Given the description of an element on the screen output the (x, y) to click on. 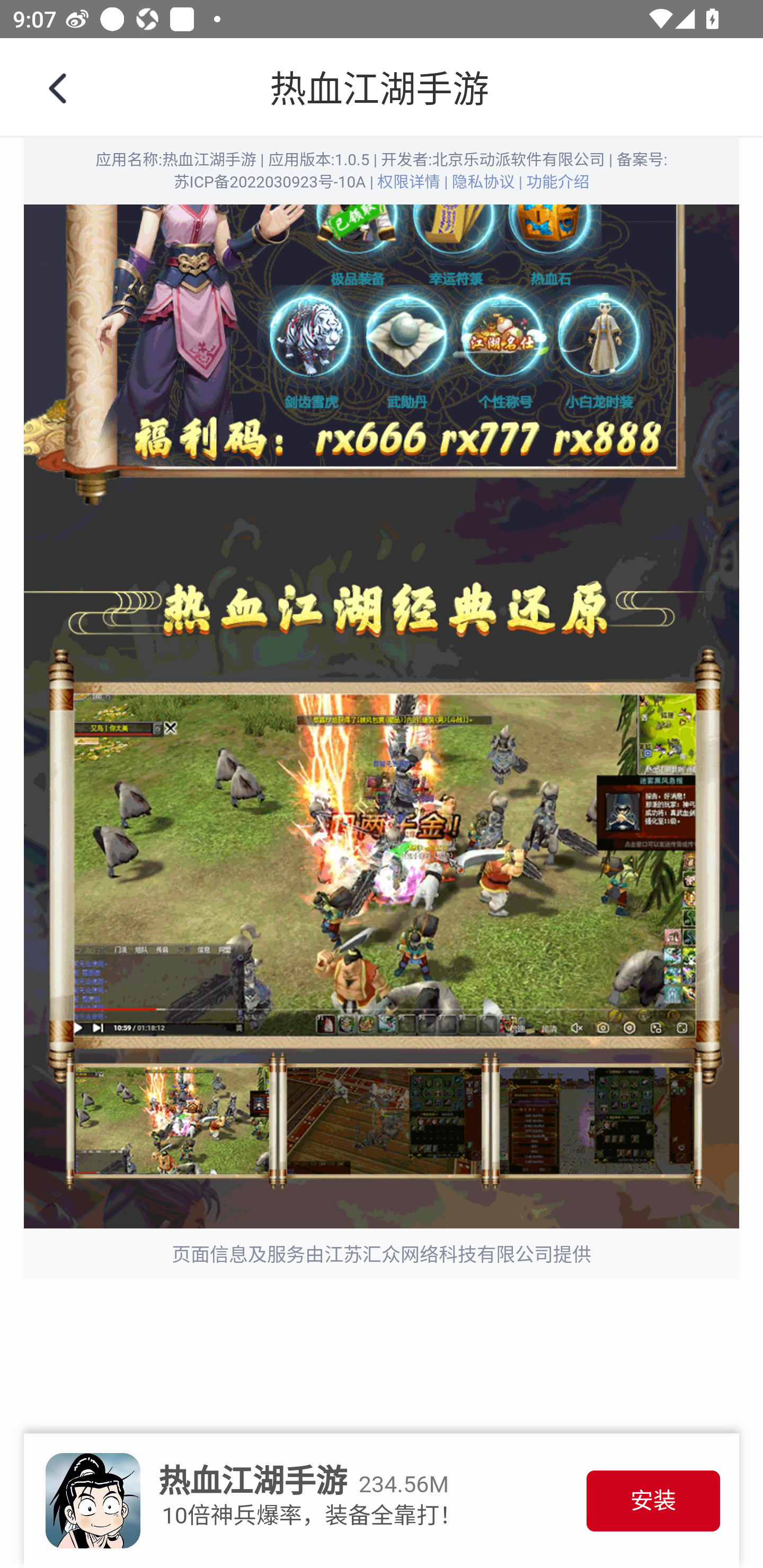
11990.0 (381, 87)
安装 (653, 1501)
